Given the description of an element on the screen output the (x, y) to click on. 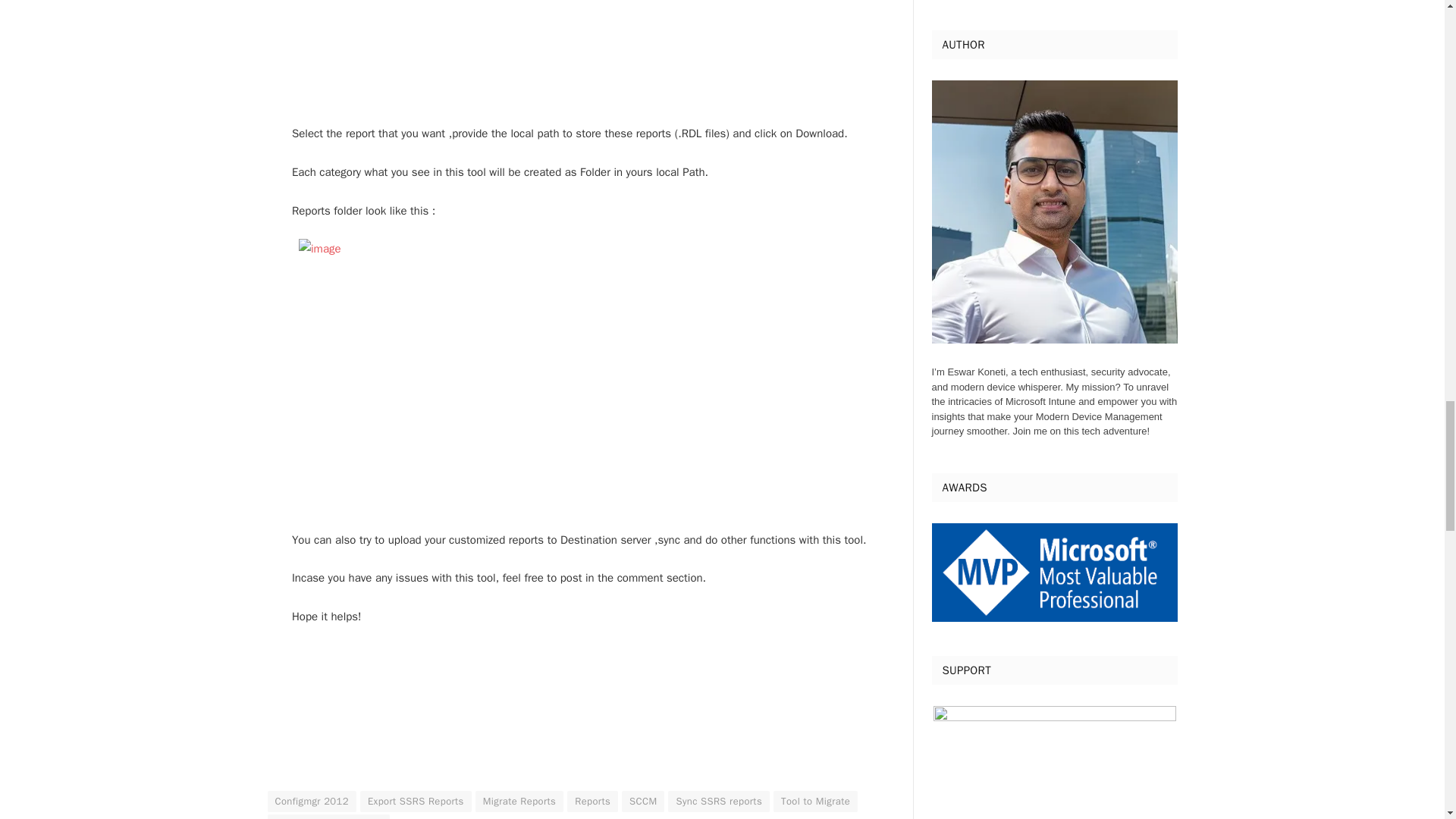
Upload multiple reports (328, 816)
Sync SSRS reports (719, 801)
Tool to Migrate (815, 801)
image (579, 53)
Export SSRS Reports (415, 801)
Reports (592, 801)
Configmgr 2012 (310, 801)
Migrate Reports (519, 801)
SCCM (642, 801)
